Given the description of an element on the screen output the (x, y) to click on. 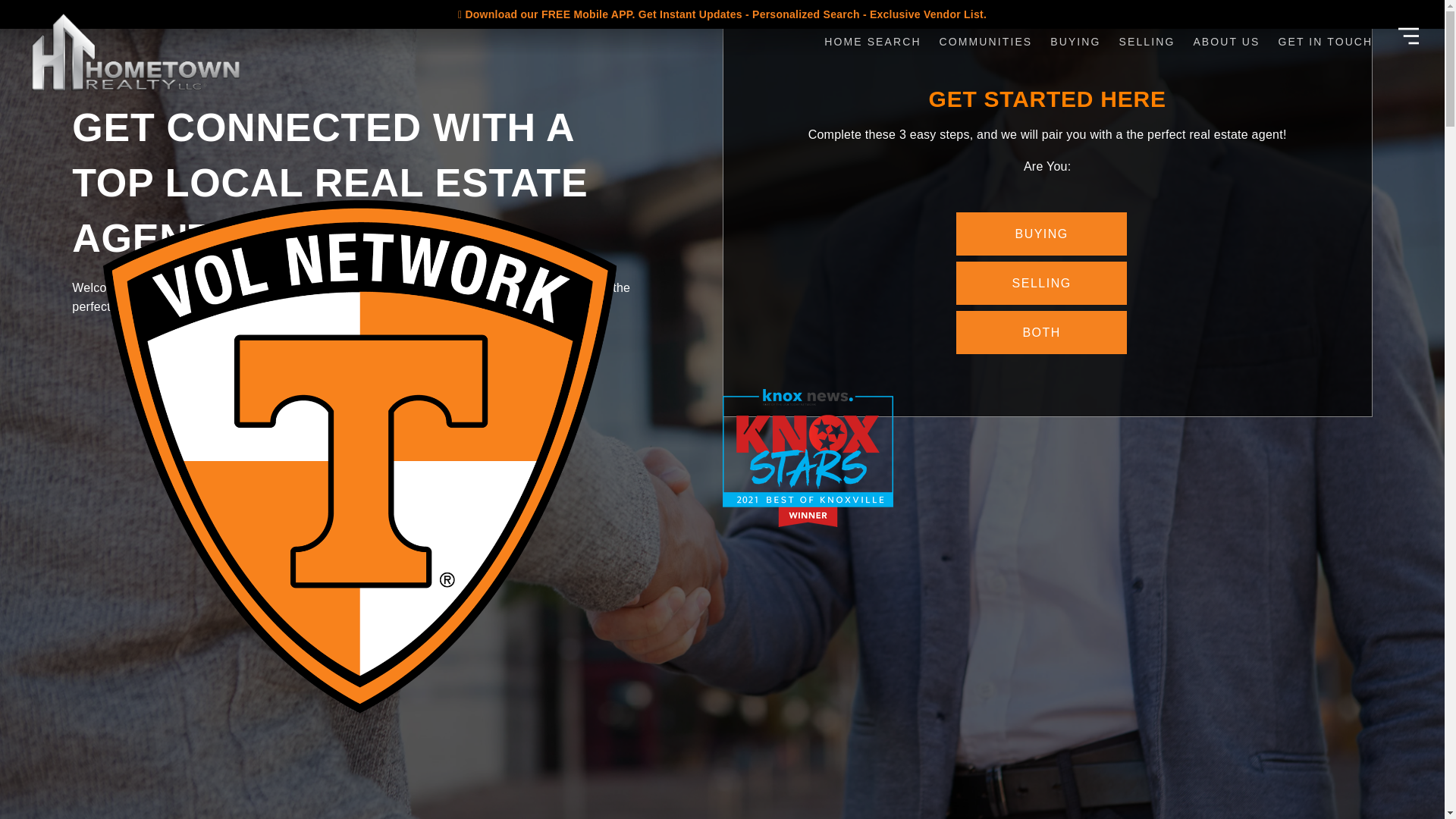
SELLING (1147, 41)
GET IN TOUCH (1325, 41)
HOME SEARCH (872, 41)
ABOUT US (1225, 41)
COMMUNITIES (986, 41)
BUYING (1075, 41)
